Given the description of an element on the screen output the (x, y) to click on. 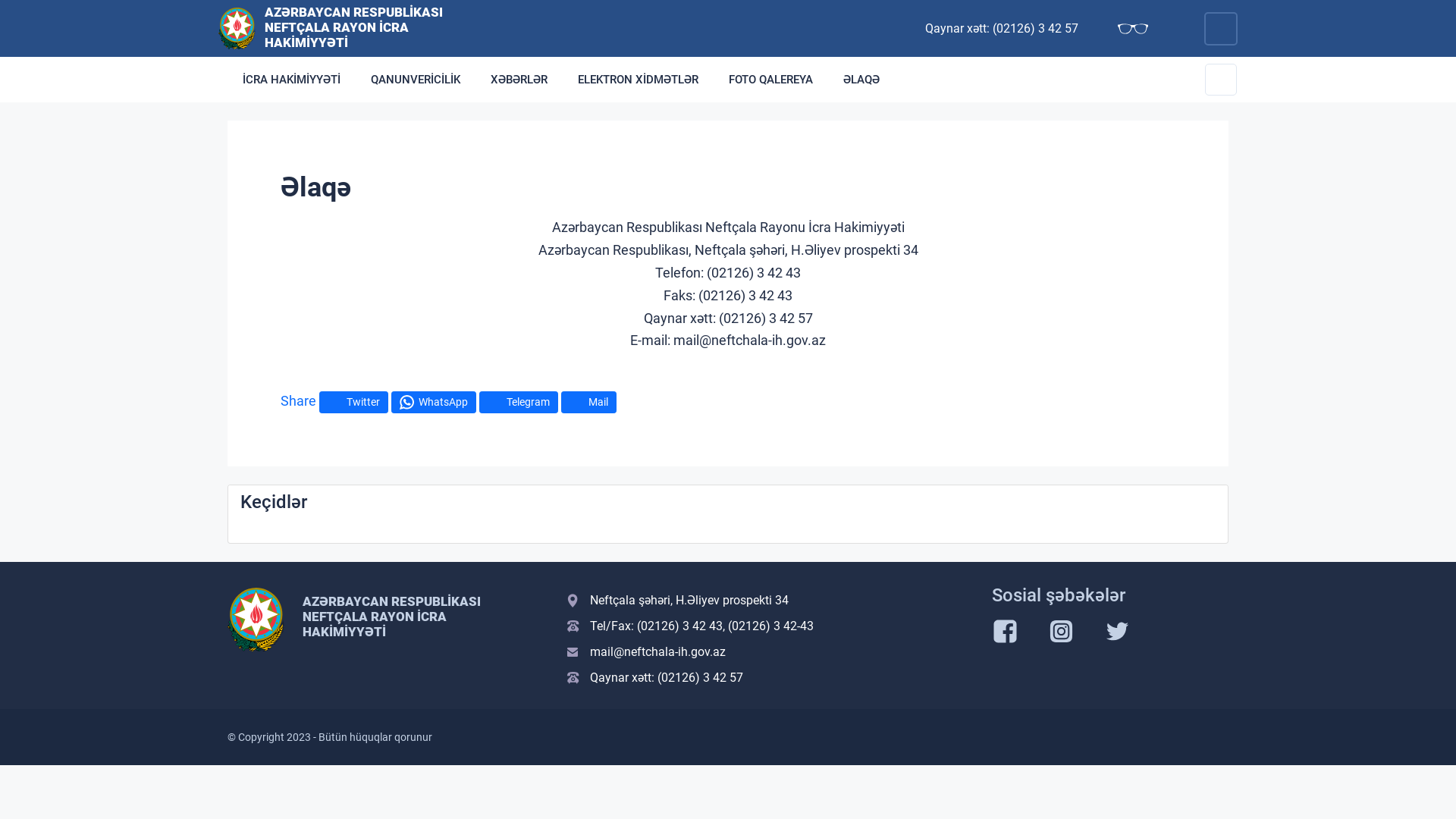
QANUNVERICILIK Element type: text (415, 79)
mail@neftchala-ih.gov.az Element type: text (770, 652)
Share Element type: text (298, 400)
Twitter Element type: text (353, 402)
Telegram Element type: text (518, 402)
Mail Element type: text (588, 402)
WhatsApp Element type: text (433, 402)
FOTO QALEREYA Element type: text (770, 79)
